Given the description of an element on the screen output the (x, y) to click on. 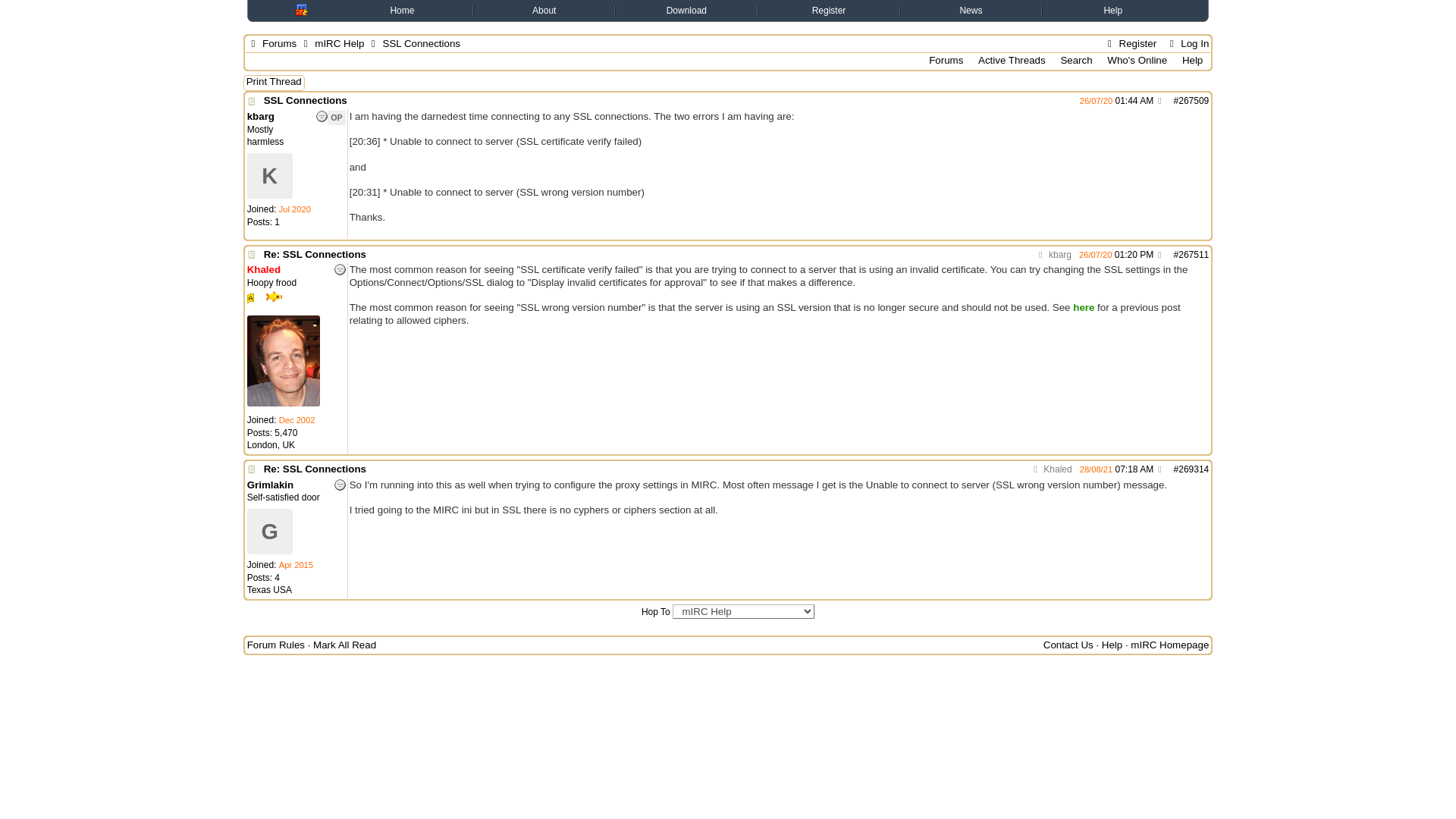
Download (686, 9)
Search (1076, 60)
Khaled (264, 269)
SSL Connections (305, 100)
Khaled (1050, 469)
Re: SSL Connections (314, 254)
Home (401, 9)
Active Threads (1011, 60)
Forums (945, 60)
Who's Online (1136, 60)
